Given the description of an element on the screen output the (x, y) to click on. 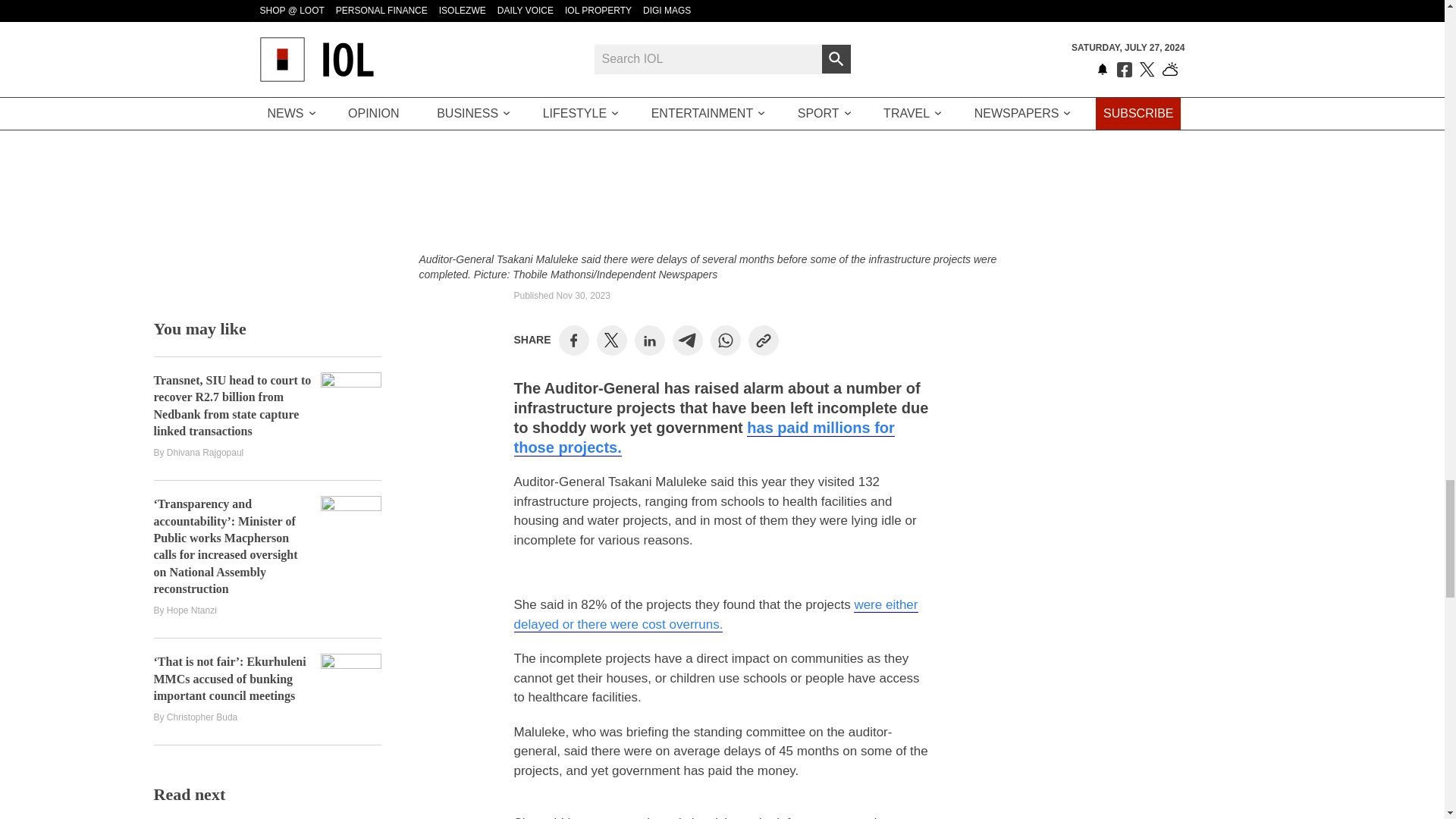
Share on Facebook (573, 339)
Share on Telegram (686, 339)
Share on Twitter (611, 340)
Share on LinkedIn (648, 339)
Copy to Clipboard (763, 339)
Share on WhatsApp (725, 339)
